Given the description of an element on the screen output the (x, y) to click on. 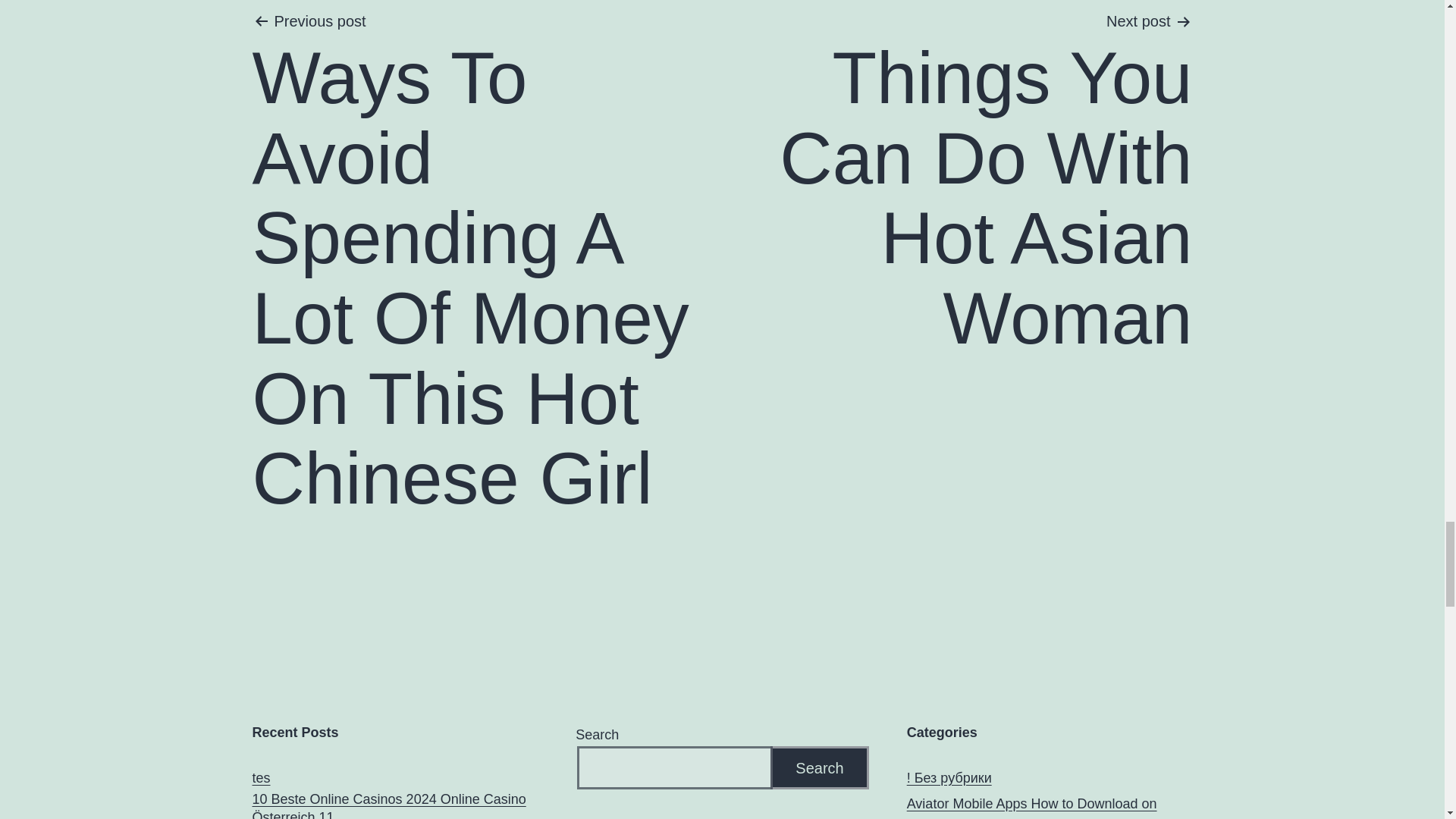
Aviator Mobile Apps How to Download on Android? 150 (1032, 807)
Search (818, 767)
tes (260, 778)
